Given the description of an element on the screen output the (x, y) to click on. 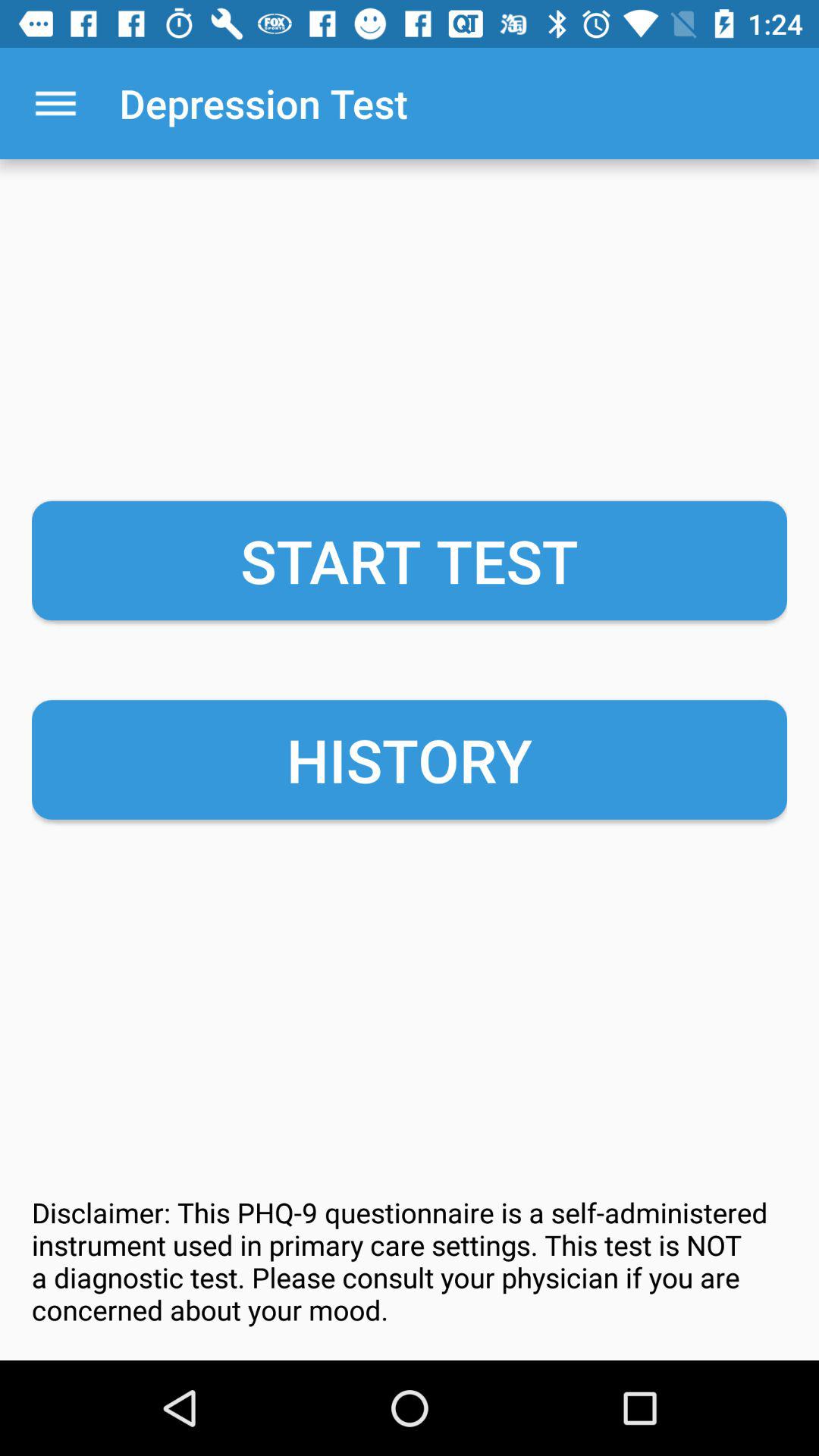
launch icon to the left of the depression test item (55, 103)
